Given the description of an element on the screen output the (x, y) to click on. 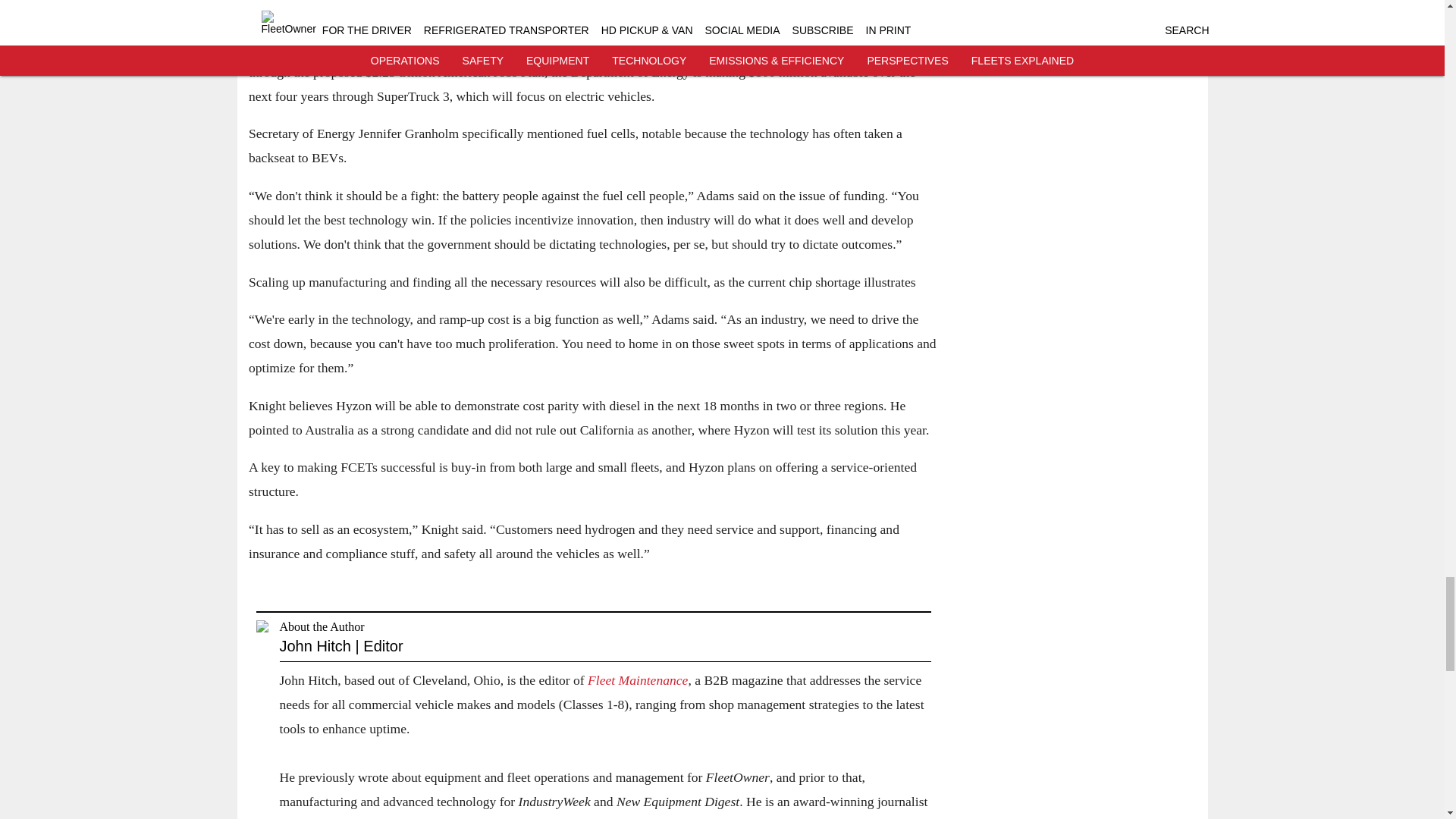
Fleet Maintenance (637, 679)
